Given the description of an element on the screen output the (x, y) to click on. 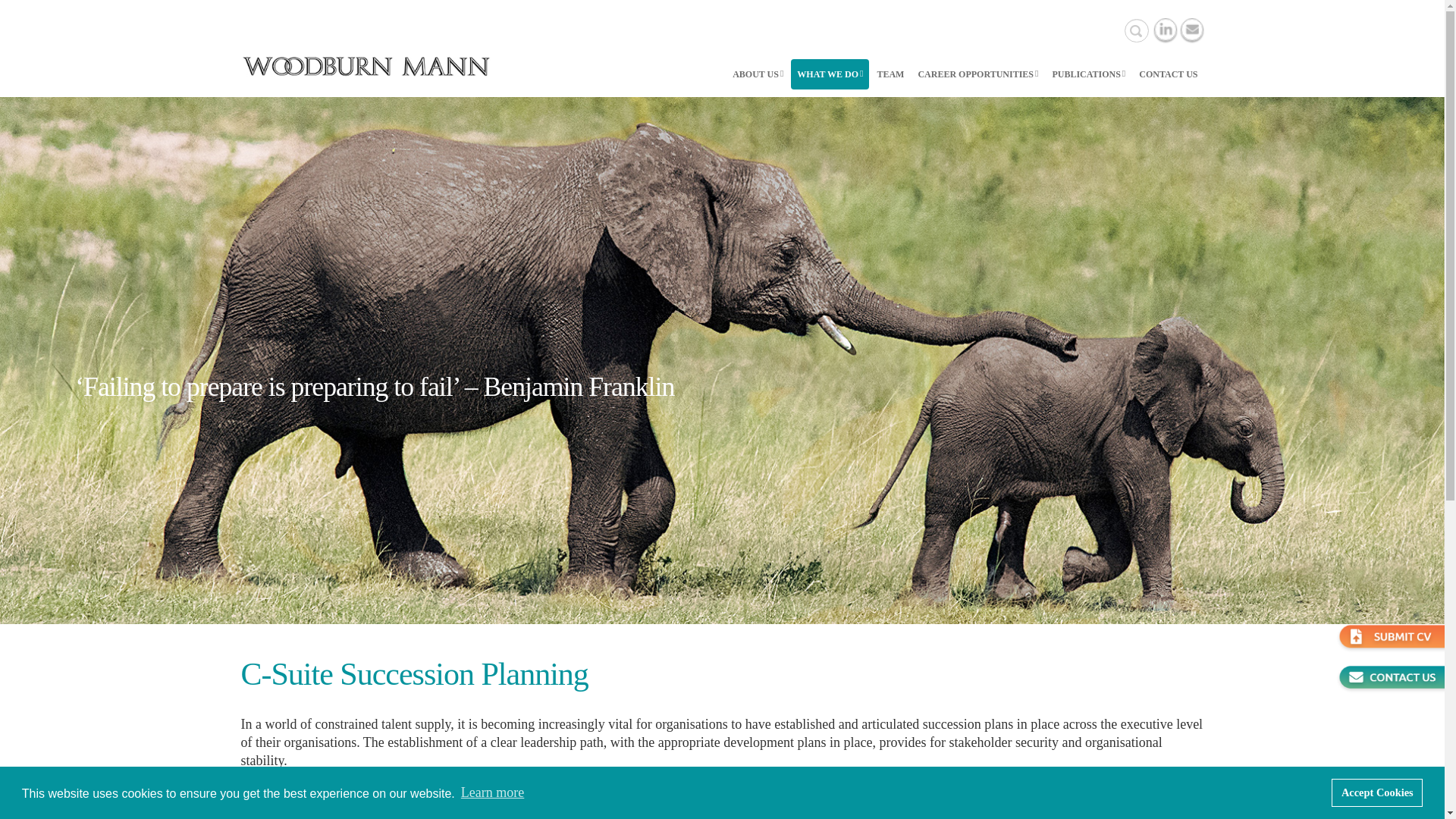
CONTACT US (1168, 73)
CAREER OPPORTUNITIES (977, 73)
Email (1190, 29)
Linkedin (1165, 29)
WHAT WE DO (829, 73)
Learn more (492, 792)
TEAM (890, 73)
Clear search text (1135, 30)
Accept Cookies (1377, 792)
ABOUT US (757, 73)
Search (1135, 30)
PUBLICATIONS (1088, 73)
